Given the description of an element on the screen output the (x, y) to click on. 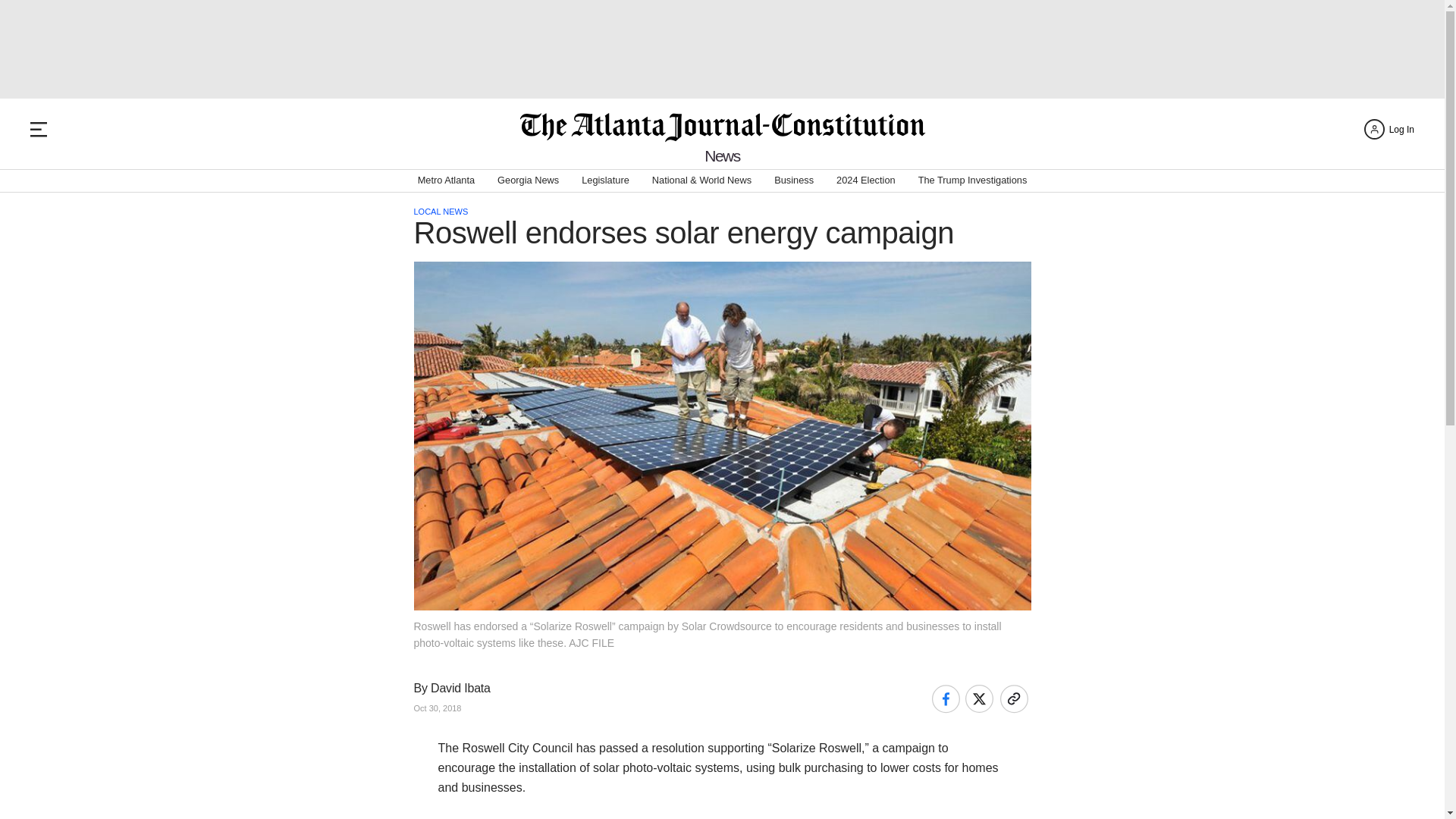
The Trump Investigations (972, 180)
Metro Atlanta (445, 180)
Business (793, 180)
Georgia News (528, 180)
Legislature (604, 180)
News (721, 155)
2024 Election (865, 180)
